Given the description of an element on the screen output the (x, y) to click on. 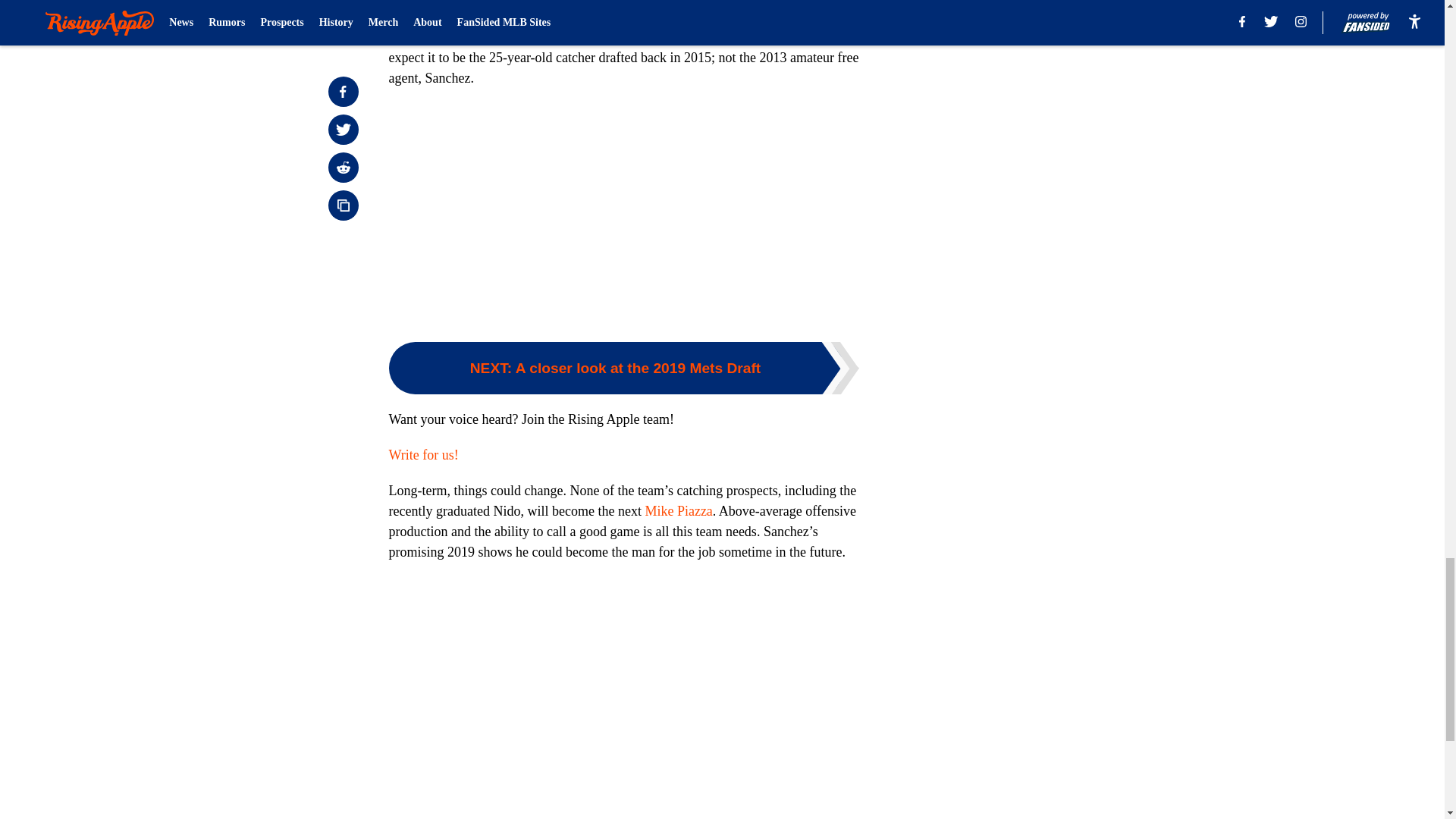
Write for us! (423, 454)
NEXT: A closer look at the 2019 Mets Draft (623, 367)
Mike Piazza (678, 510)
